Given the description of an element on the screen output the (x, y) to click on. 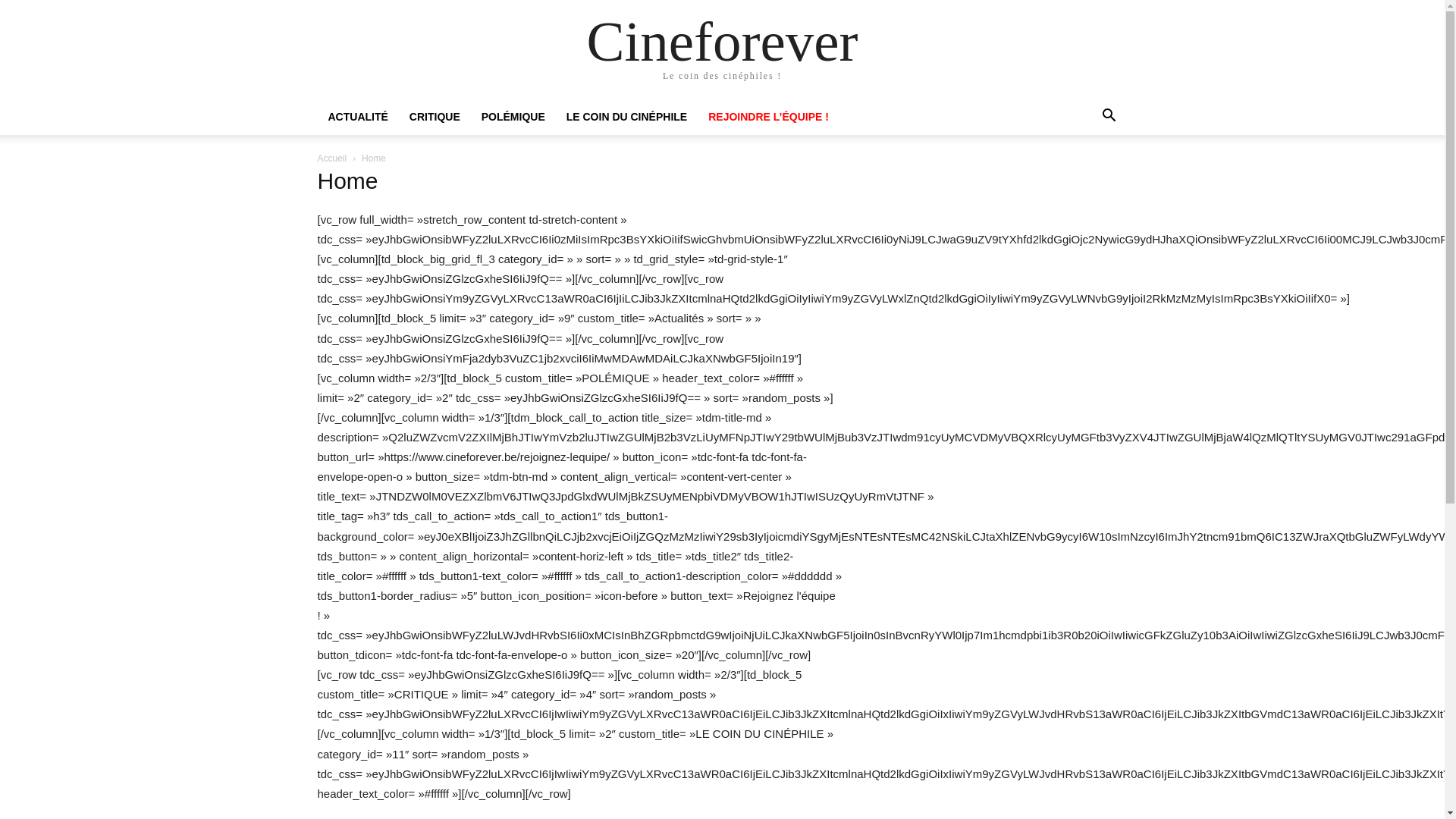
CRITIQUE Element type: text (434, 116)
Accueil Element type: text (331, 158)
Cineforever Element type: text (721, 40)
Recherche Element type: text (1076, 177)
